Given the description of an element on the screen output the (x, y) to click on. 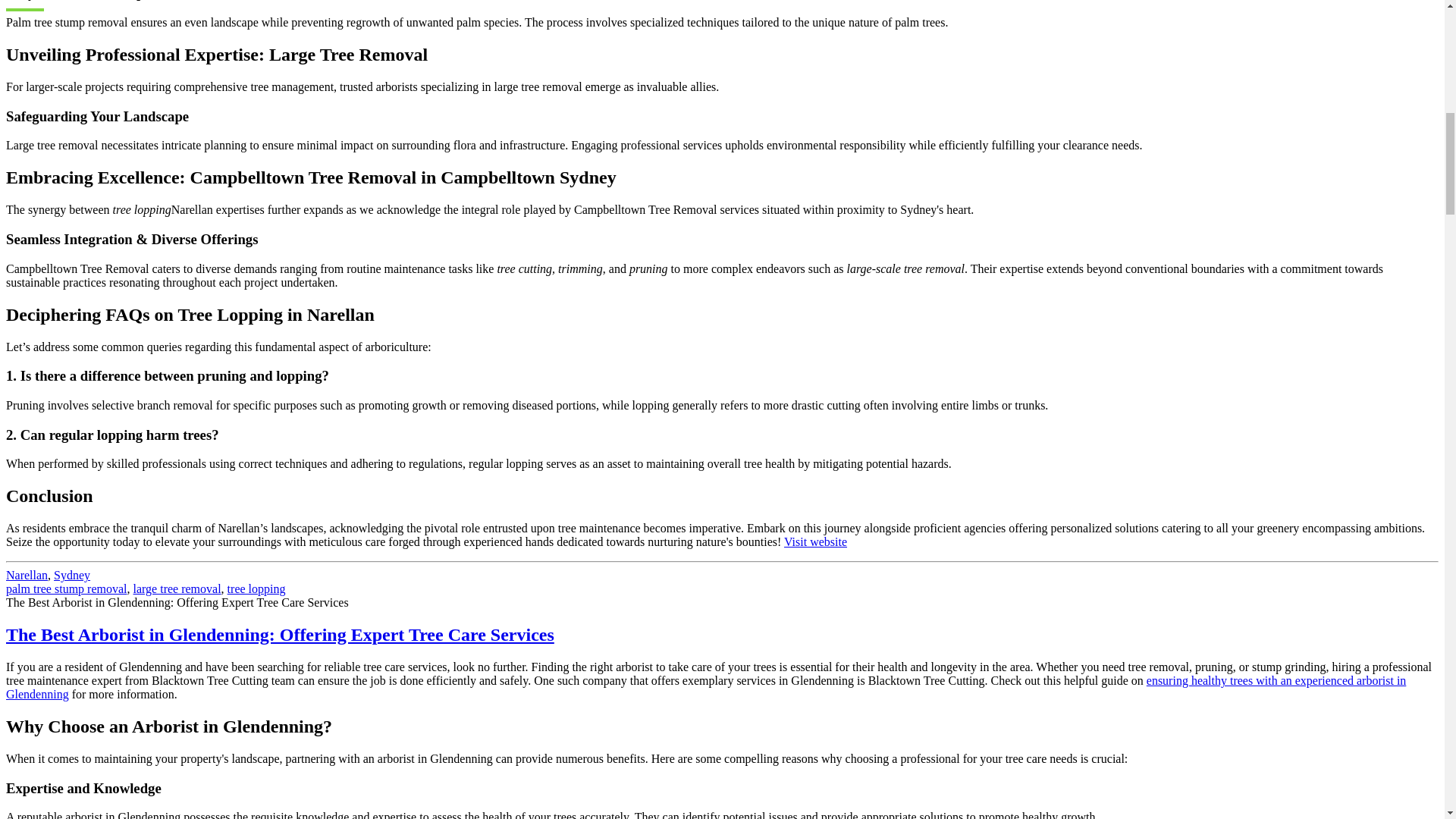
palm tree stump removal (66, 588)
Visit website (815, 541)
Sydney (71, 574)
large tree removal (177, 588)
tree lopping (256, 588)
Narellan (26, 574)
